Given the description of an element on the screen output the (x, y) to click on. 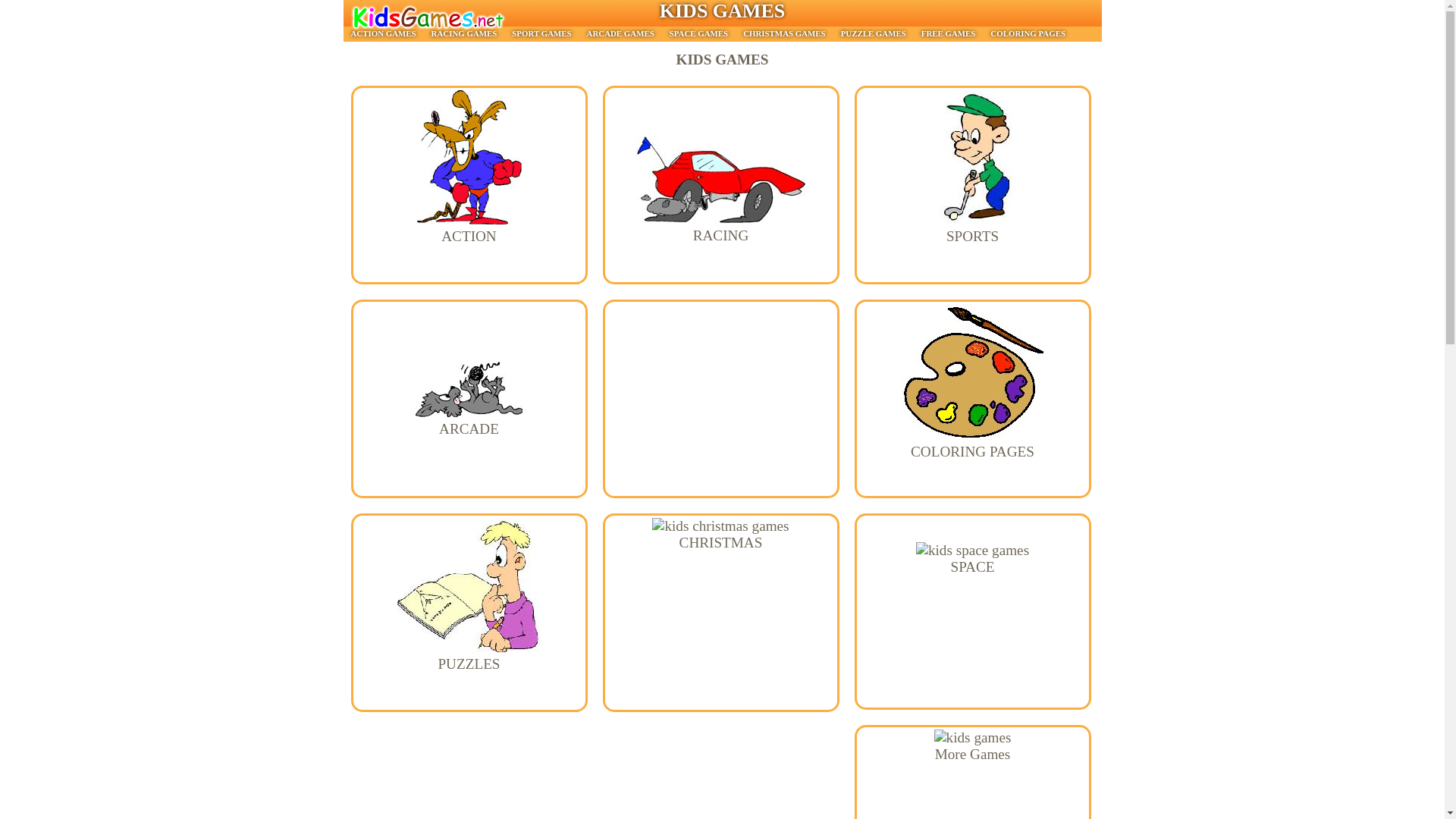
SPACE GAMES (698, 33)
COLORING PAGES (1027, 33)
kids games (721, 11)
KIDS GAMES (721, 11)
RACING GAMES (464, 33)
ACTION (468, 227)
ACTION GAMES (382, 33)
FREE GAMES (949, 33)
CHRISTMAS (720, 533)
PUZZLE GAMES (873, 33)
SPORT GAMES (540, 33)
PUZZLES (468, 655)
SPACE (972, 558)
ARCADE (468, 420)
ARCADE GAMES (620, 33)
